Given the description of an element on the screen output the (x, y) to click on. 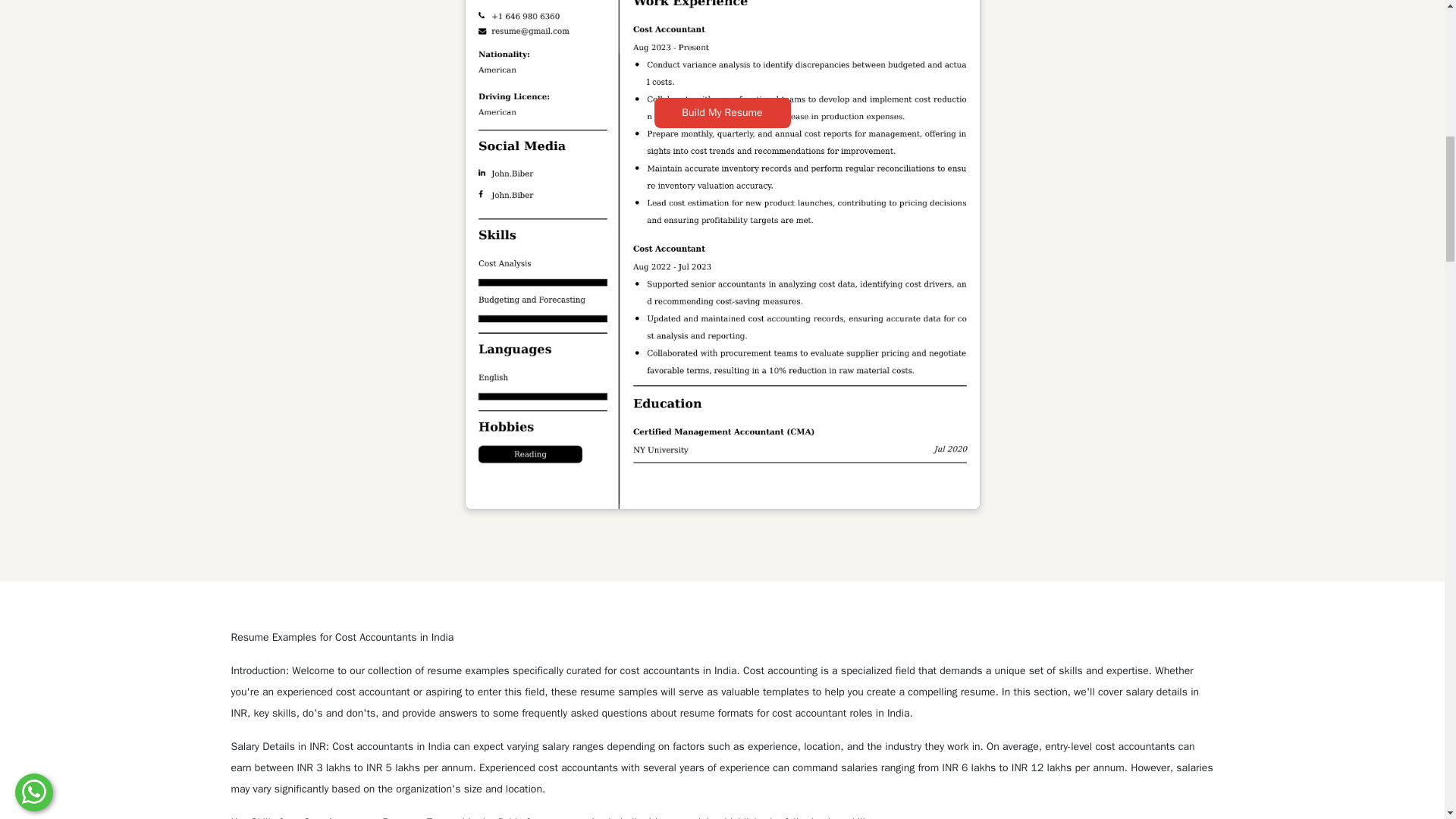
Build My Resume (721, 112)
click to open whatsapp chat (33, 2)
